Given the description of an element on the screen output the (x, y) to click on. 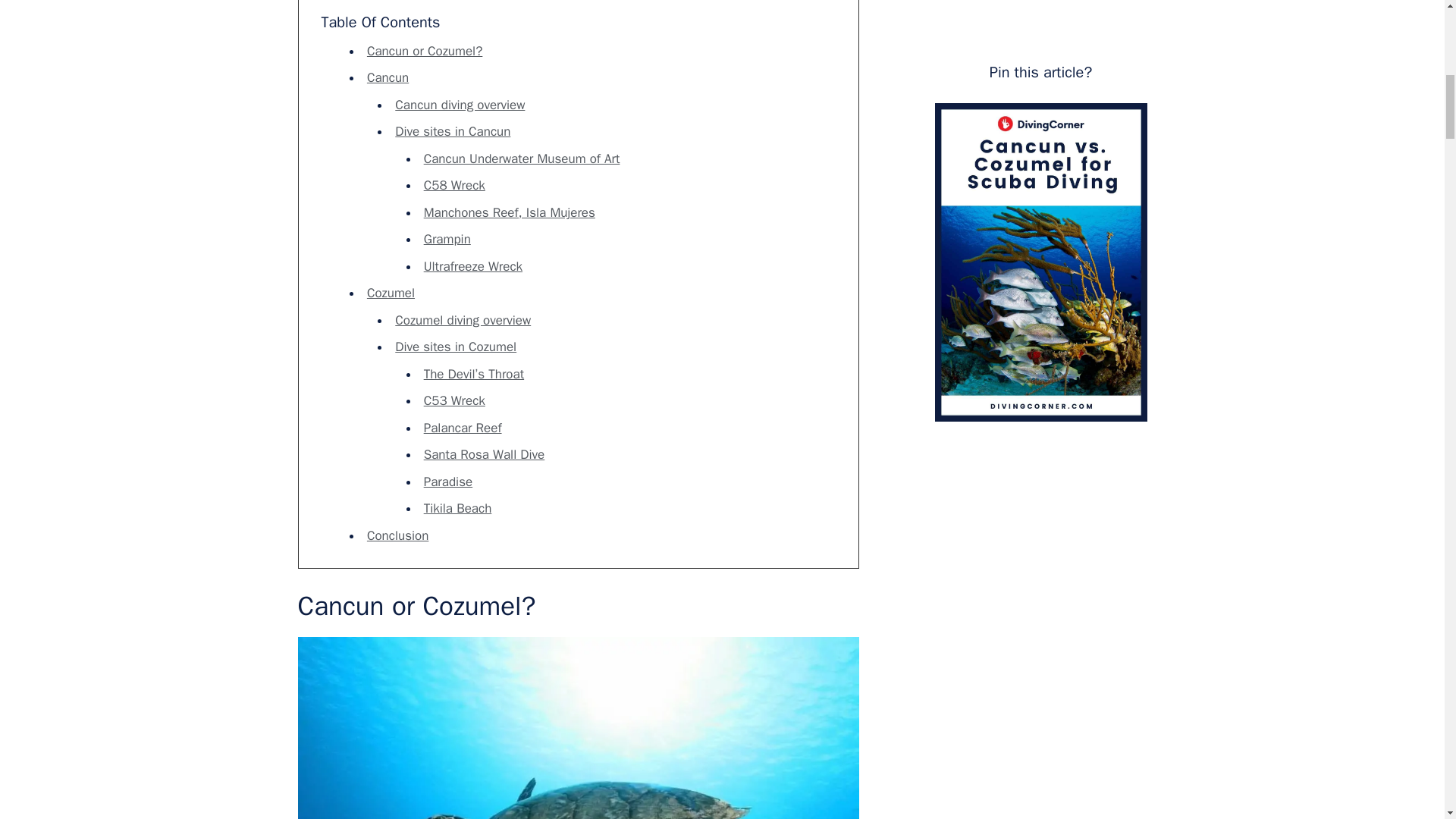
Santa Rosa Wall Dive (483, 454)
Manchones Reef, Isla Mujeres (509, 212)
Cancun diving overview (459, 105)
Cozumel (390, 293)
C53 Wreck (453, 400)
Cancun (387, 77)
Cozumel diving overview (462, 320)
Ultrafreeze Wreck (472, 266)
C58 Wreck (453, 185)
Dive sites in Cozumel (455, 346)
Grampin (446, 238)
Tikila Beach (457, 508)
Cancun or Cozumel? (423, 50)
Cancun Underwater Museum of Art (521, 158)
Palancar Reef (462, 427)
